Given the description of an element on the screen output the (x, y) to click on. 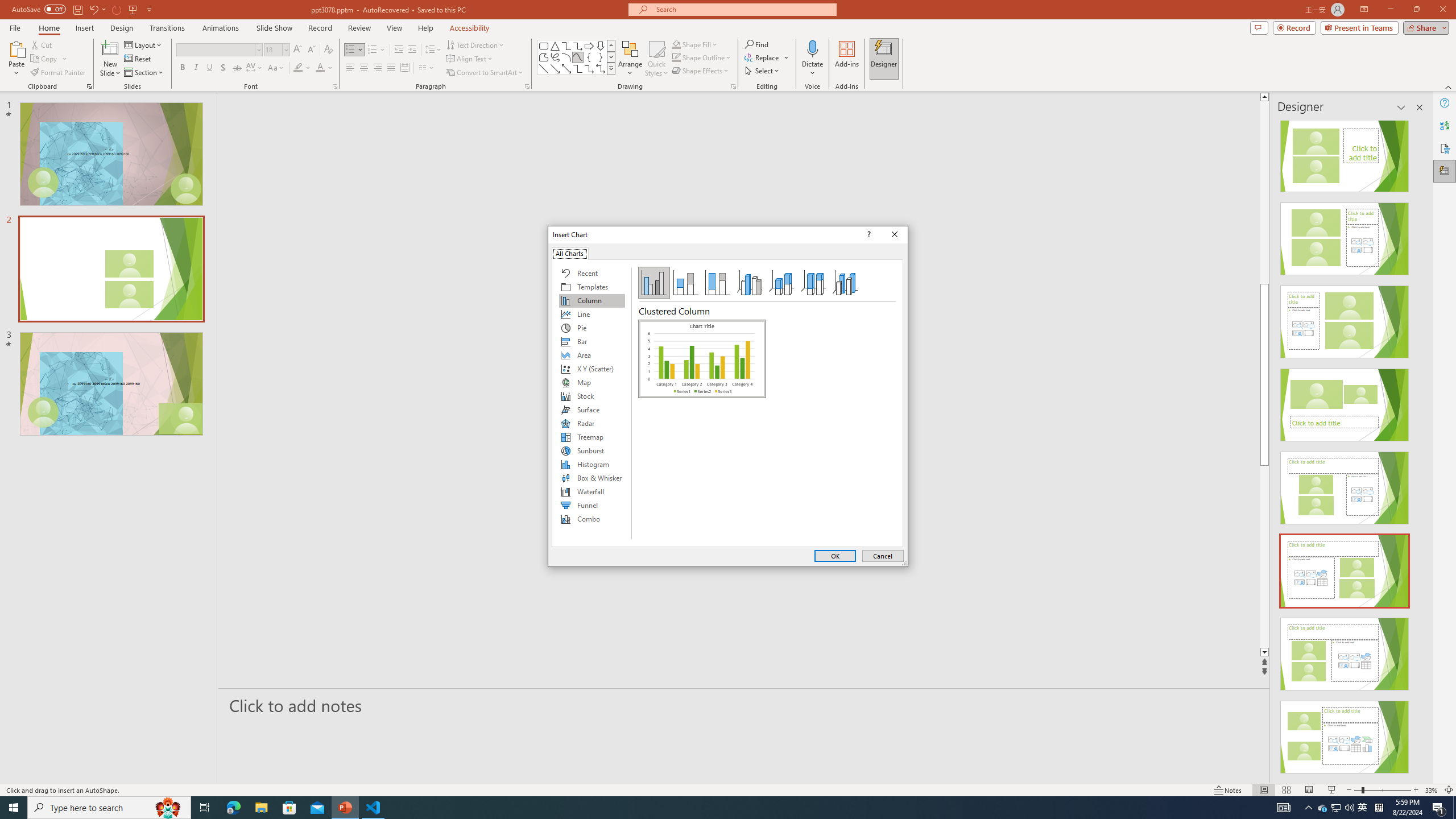
3-D Clustered Column (749, 282)
Recommended Design: Design Idea (1344, 152)
Column (591, 300)
OK (834, 555)
